Given the description of an element on the screen output the (x, y) to click on. 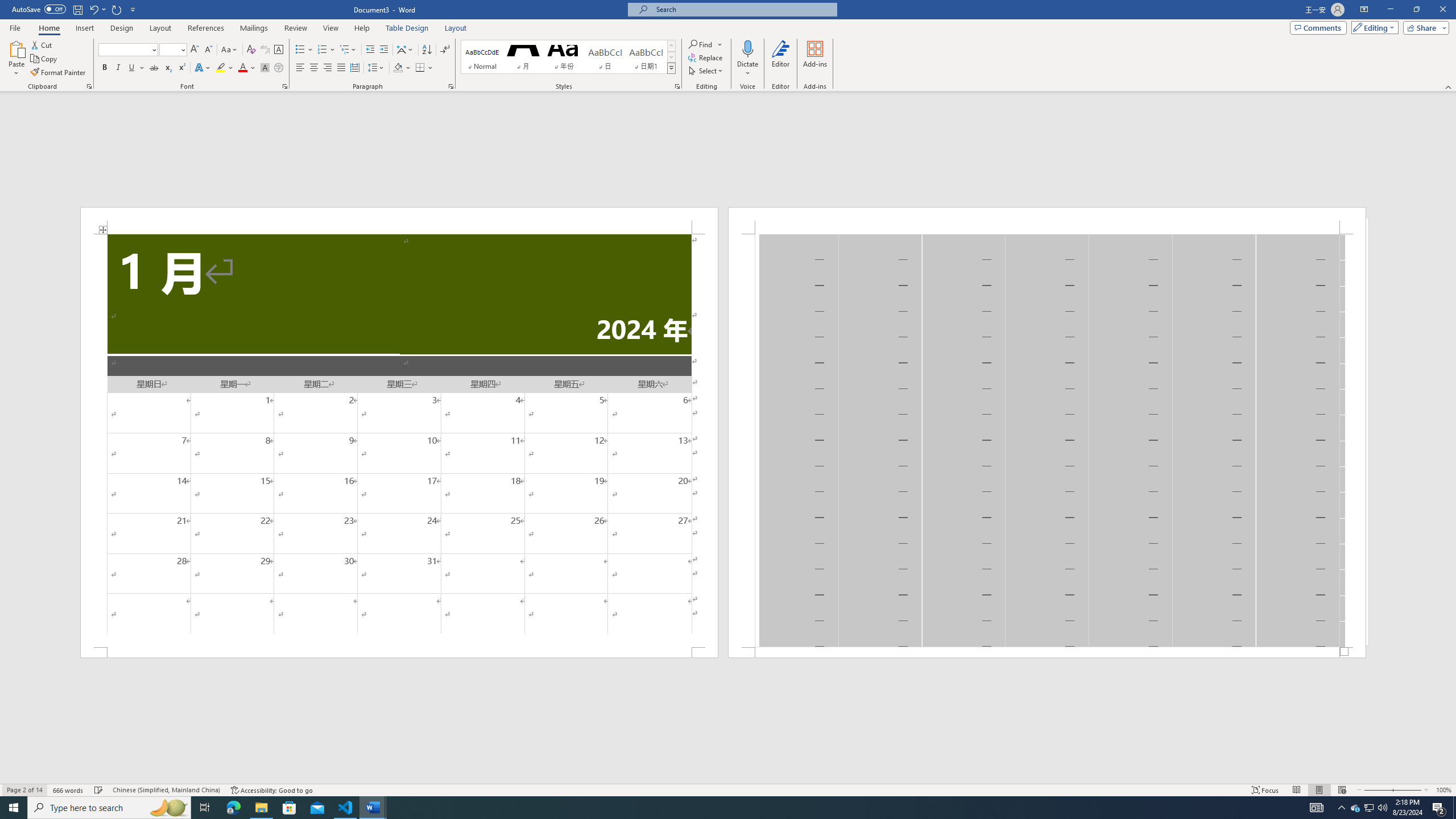
Paragraph... (450, 85)
Spelling and Grammar Check Checking (98, 790)
Format Painter (58, 72)
Clear Formatting (250, 49)
Replace... (705, 56)
